Given the description of an element on the screen output the (x, y) to click on. 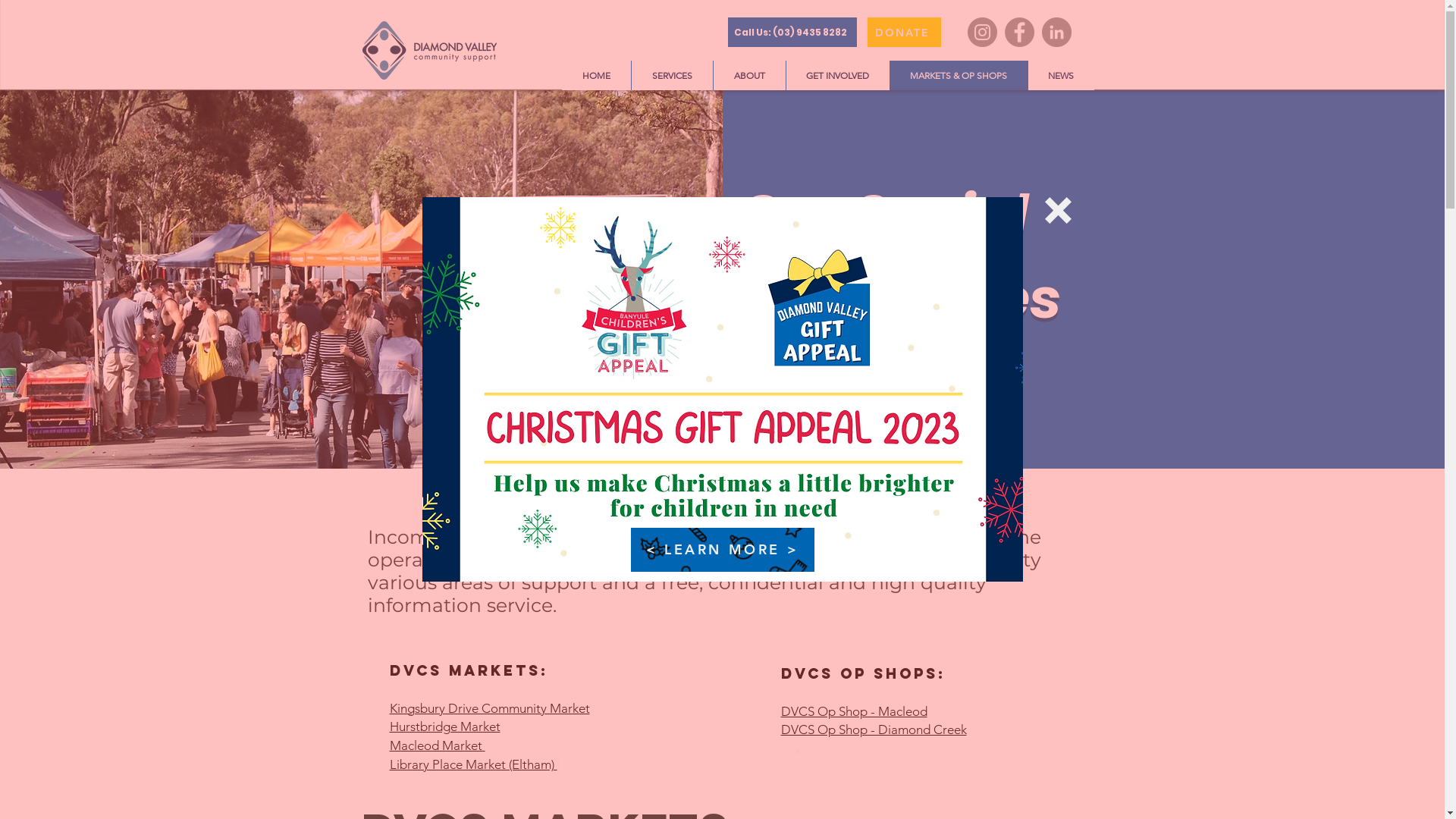
Hurstbridge Market Element type: text (444, 727)
Library Place Market (Eltham)  Element type: text (473, 765)
Macleod Market  Element type: text (437, 746)
Kingsbury Drive Community Market Element type: text (489, 708)
MARKETS & OP SHOPS Element type: text (957, 75)
Call Us: (03) 9435 8282 Element type: text (792, 32)
NEWS Element type: text (1059, 75)
< LEARN MORE > Element type: text (722, 549)
DVCS Op Shop - Macleod Element type: text (854, 711)
HOME Element type: text (595, 75)
ABOUT Element type: text (748, 75)
GET INVOLVED Element type: text (837, 75)
DVCS Op Shop - Diamond Creek Element type: text (873, 730)
Back to site Element type: hover (1057, 210)
SERVICES Element type: text (671, 75)
DONATE Element type: text (904, 32)
